Given the description of an element on the screen output the (x, y) to click on. 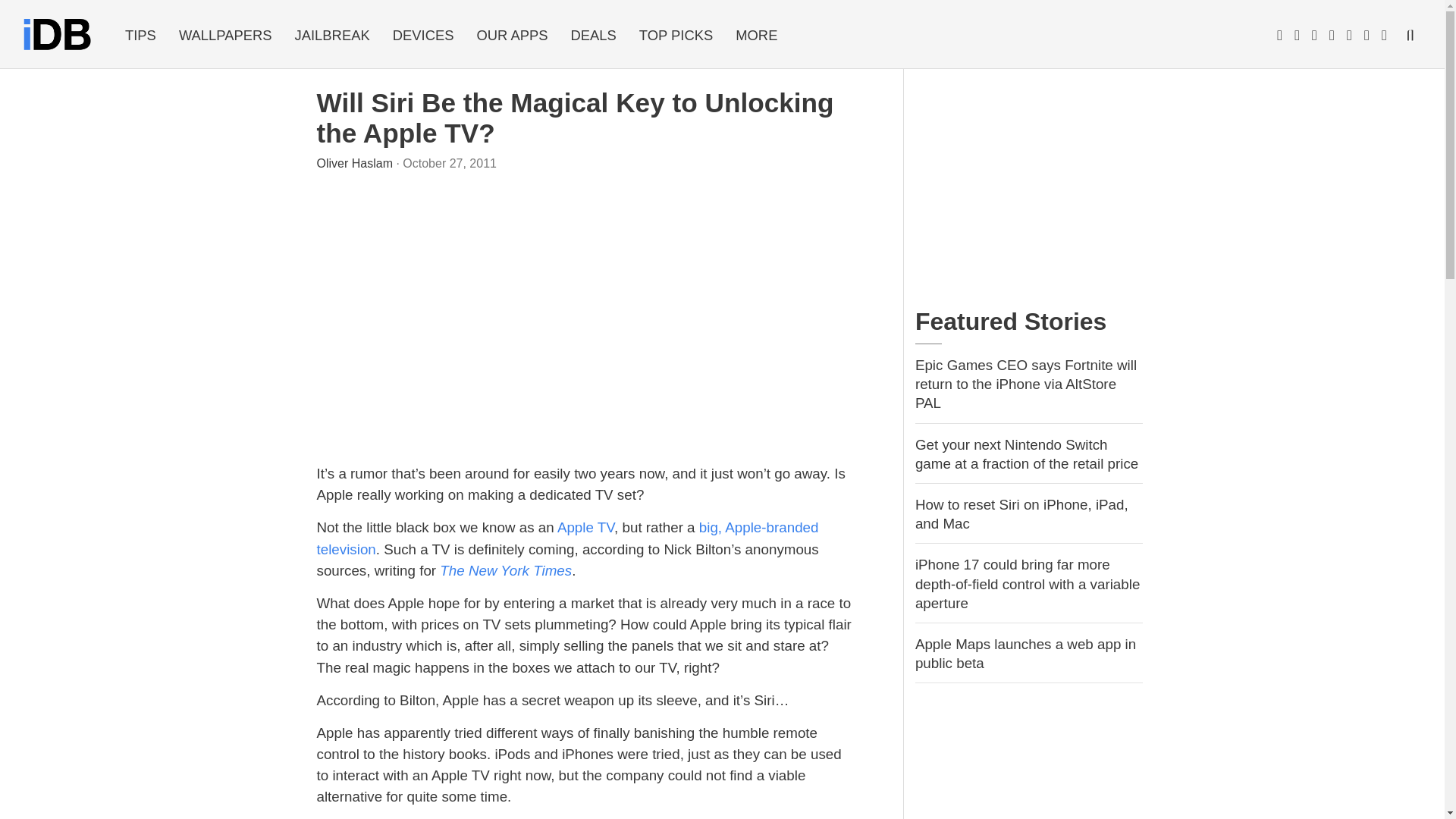
Tips (140, 35)
TIPS (140, 35)
WALLPAPERS (225, 35)
Wallpapers (225, 35)
JAILBREAK (332, 35)
OUR APPS (511, 35)
DEVICES (423, 35)
